Given the description of an element on the screen output the (x, y) to click on. 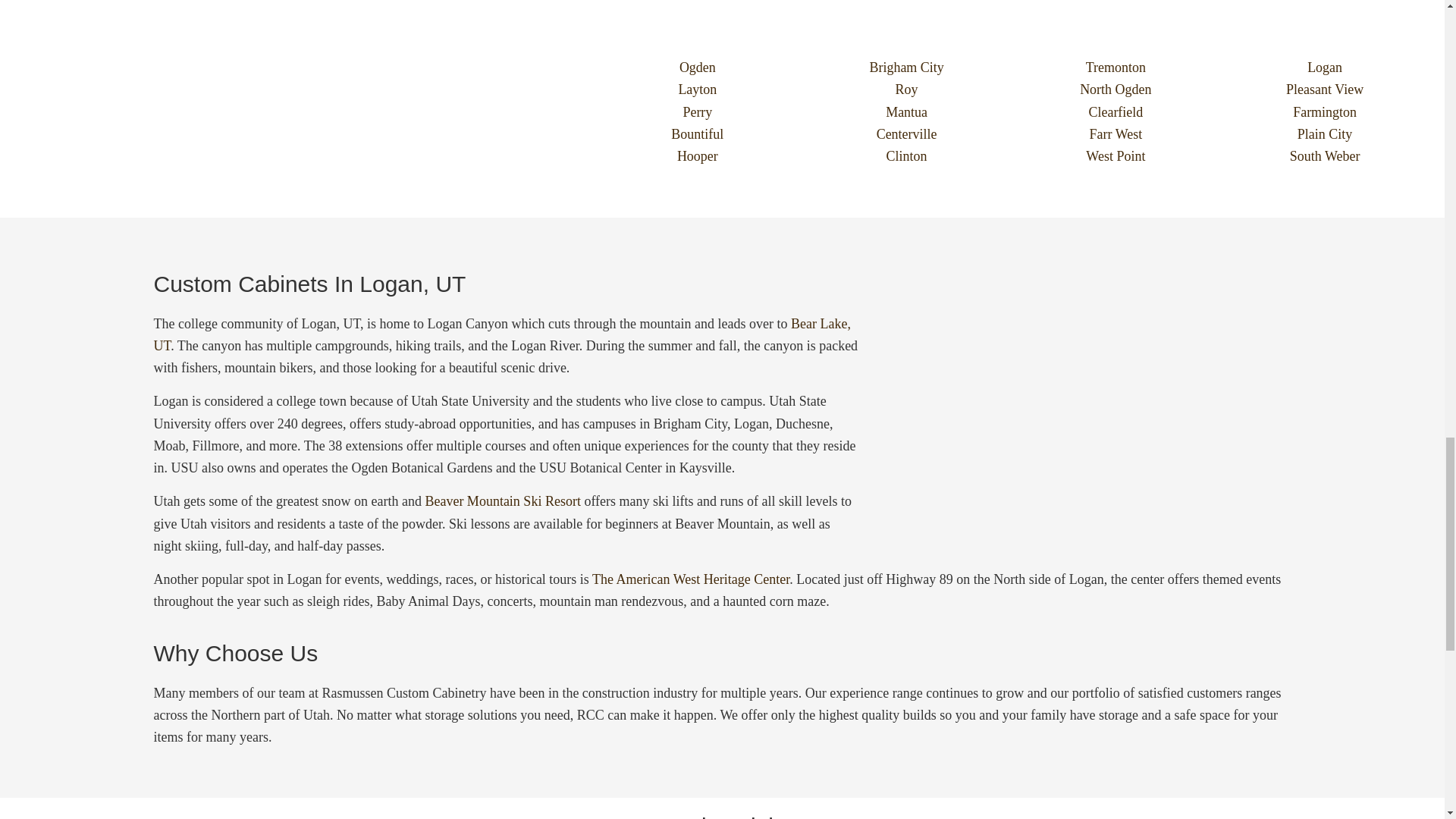
Pleasant View (1324, 89)
Logan (1324, 67)
Layton (697, 89)
Tremonton (1116, 67)
North Ogden (1116, 89)
Roy (906, 89)
Ogden (697, 67)
Brigham City (906, 67)
